Given the description of an element on the screen output the (x, y) to click on. 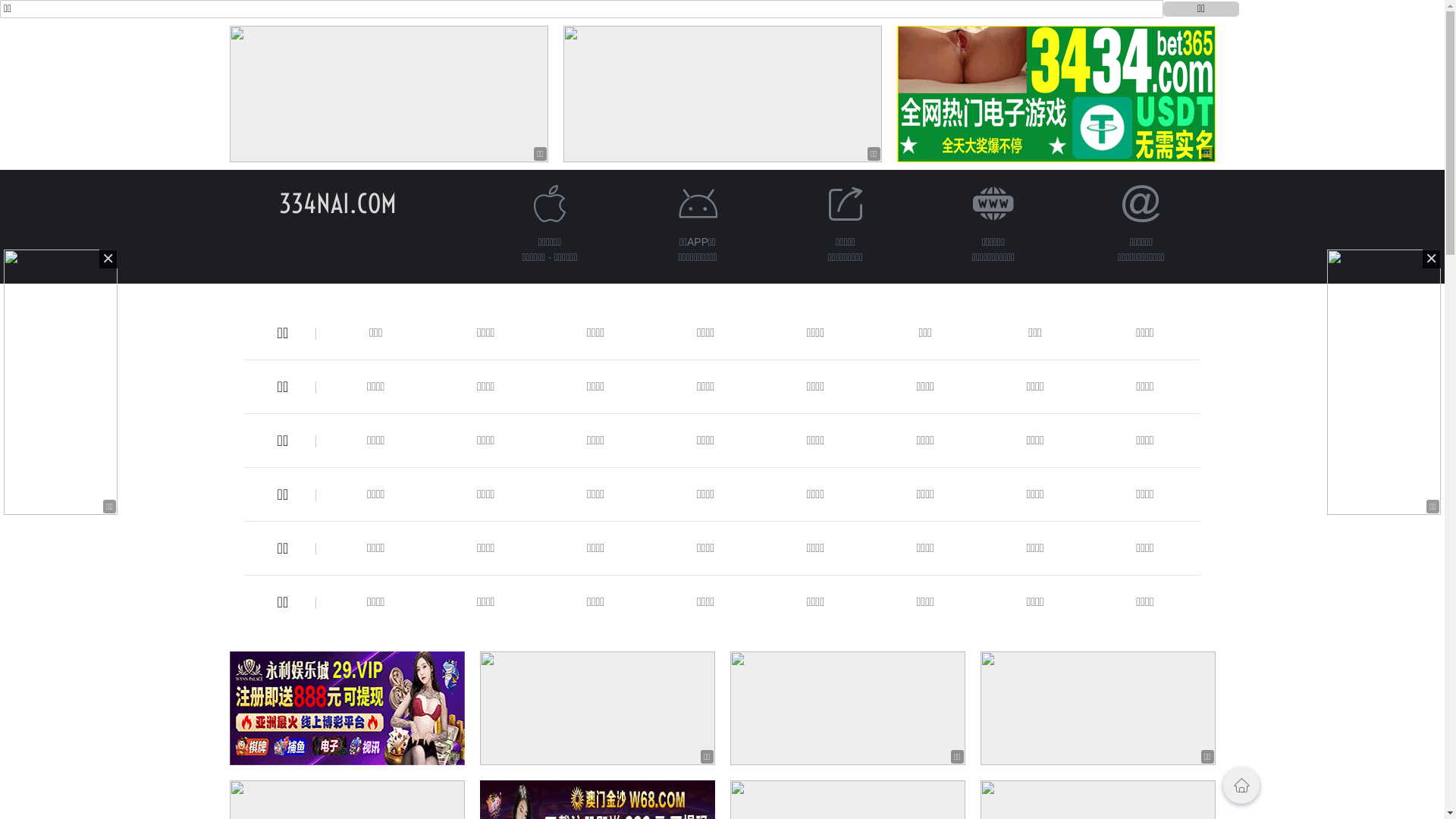
334NAI.COM Element type: text (337, 203)
